Given the description of an element on the screen output the (x, y) to click on. 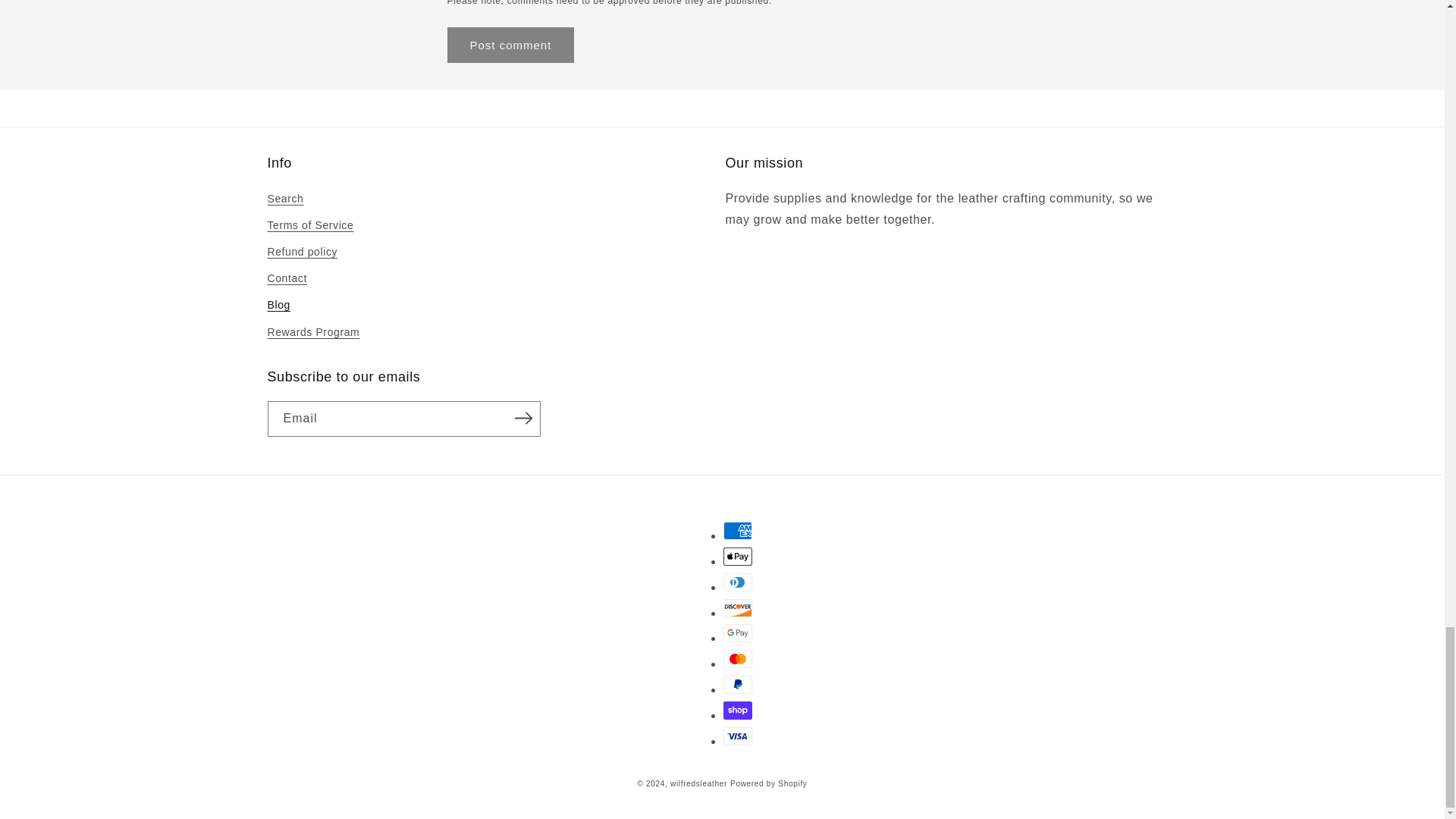
Mastercard (737, 659)
Post comment (510, 45)
Diners Club (737, 582)
Apple Pay (737, 556)
Discover (737, 607)
American Express (737, 530)
Shop Pay (737, 710)
PayPal (737, 684)
Visa (737, 736)
Google Pay (737, 633)
